Given the description of an element on the screen output the (x, y) to click on. 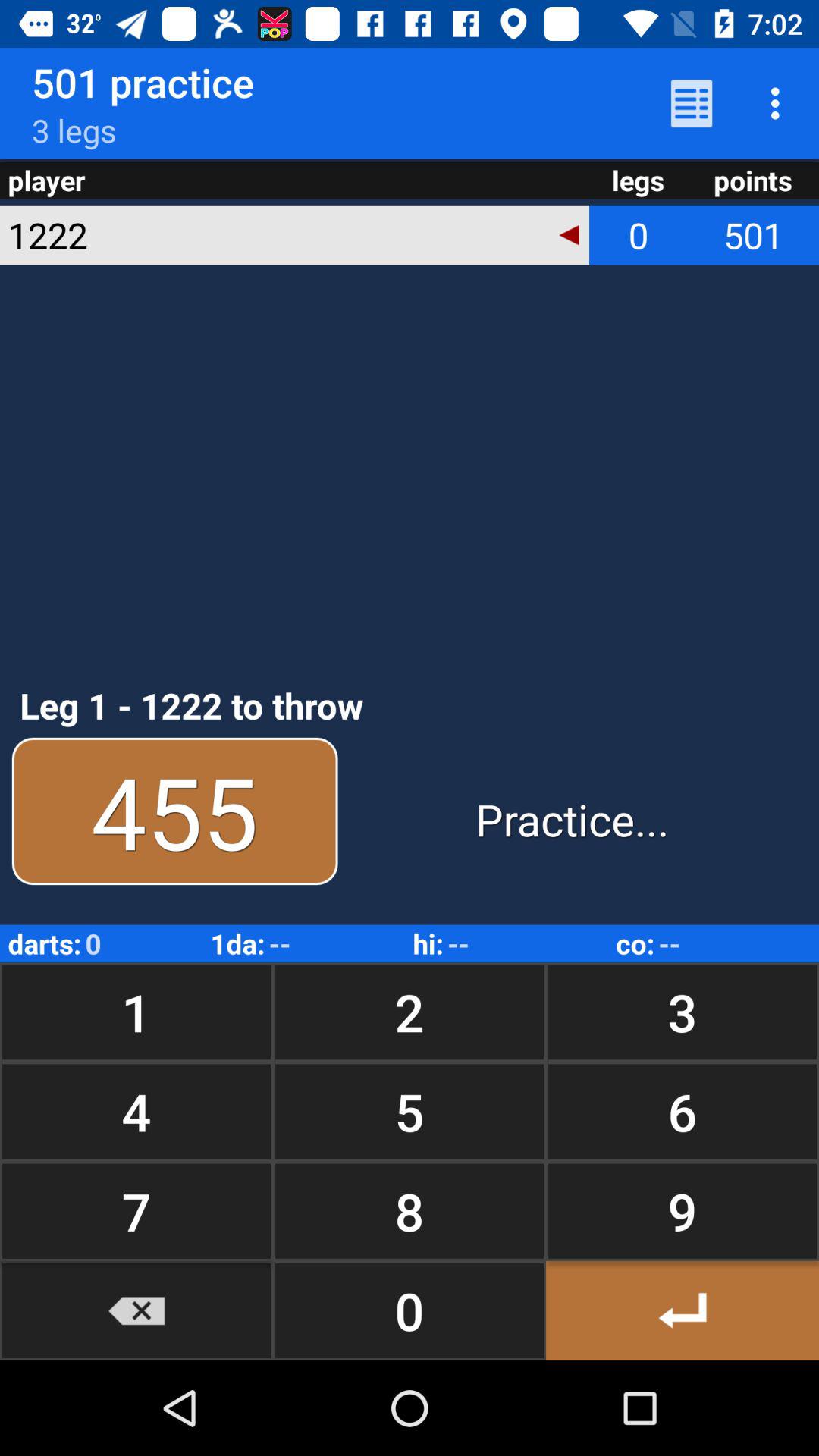
tap item above the 7 item (136, 1111)
